Given the description of an element on the screen output the (x, y) to click on. 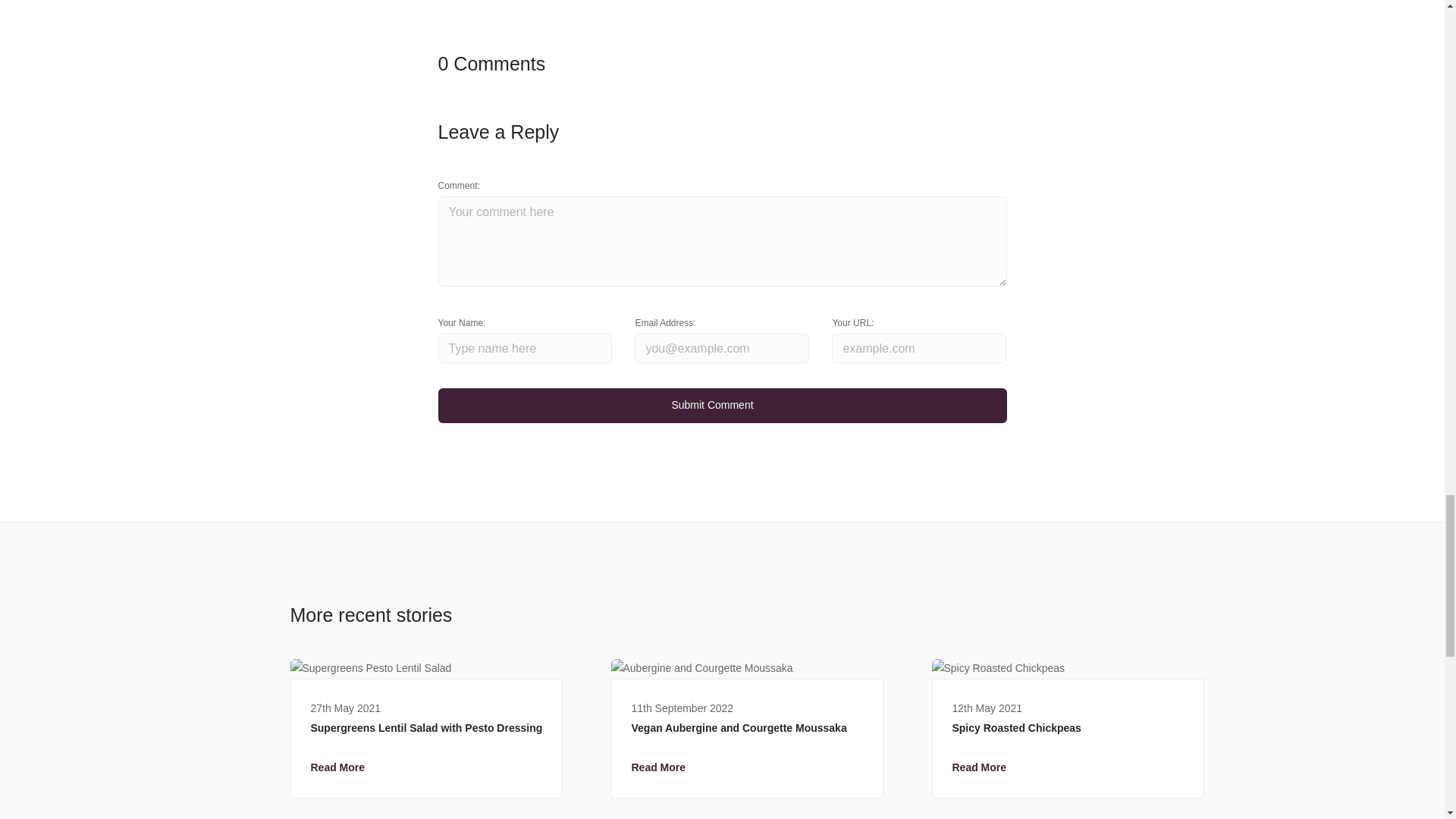
Submit Comment (722, 405)
